Given the description of an element on the screen output the (x, y) to click on. 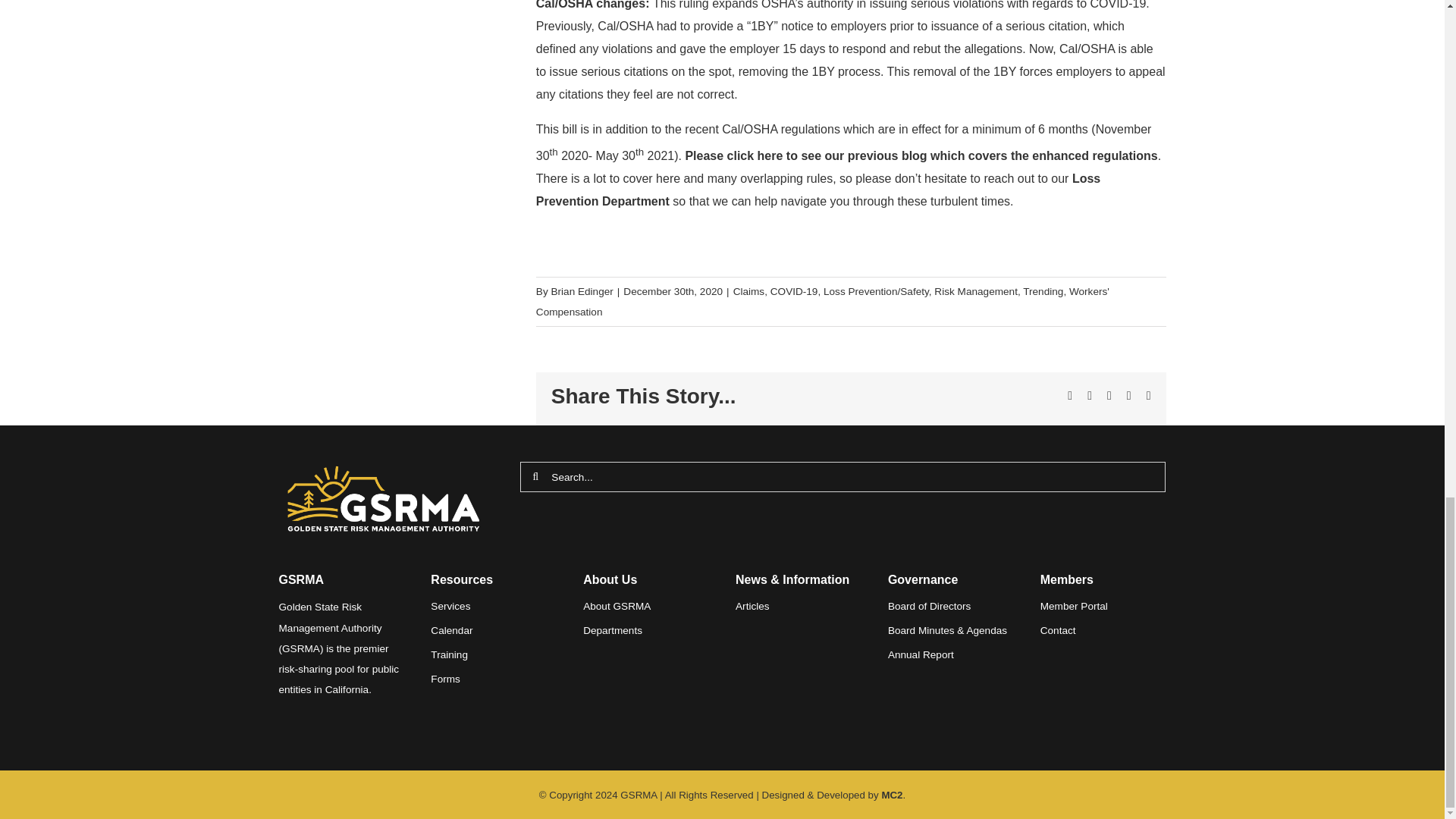
departments (612, 630)
Posts by Brian Edinger (581, 291)
COVID-19 (794, 291)
Claims (749, 291)
Brian Edinger (581, 291)
Loss Prevention Department (817, 189)
